Given the description of an element on the screen output the (x, y) to click on. 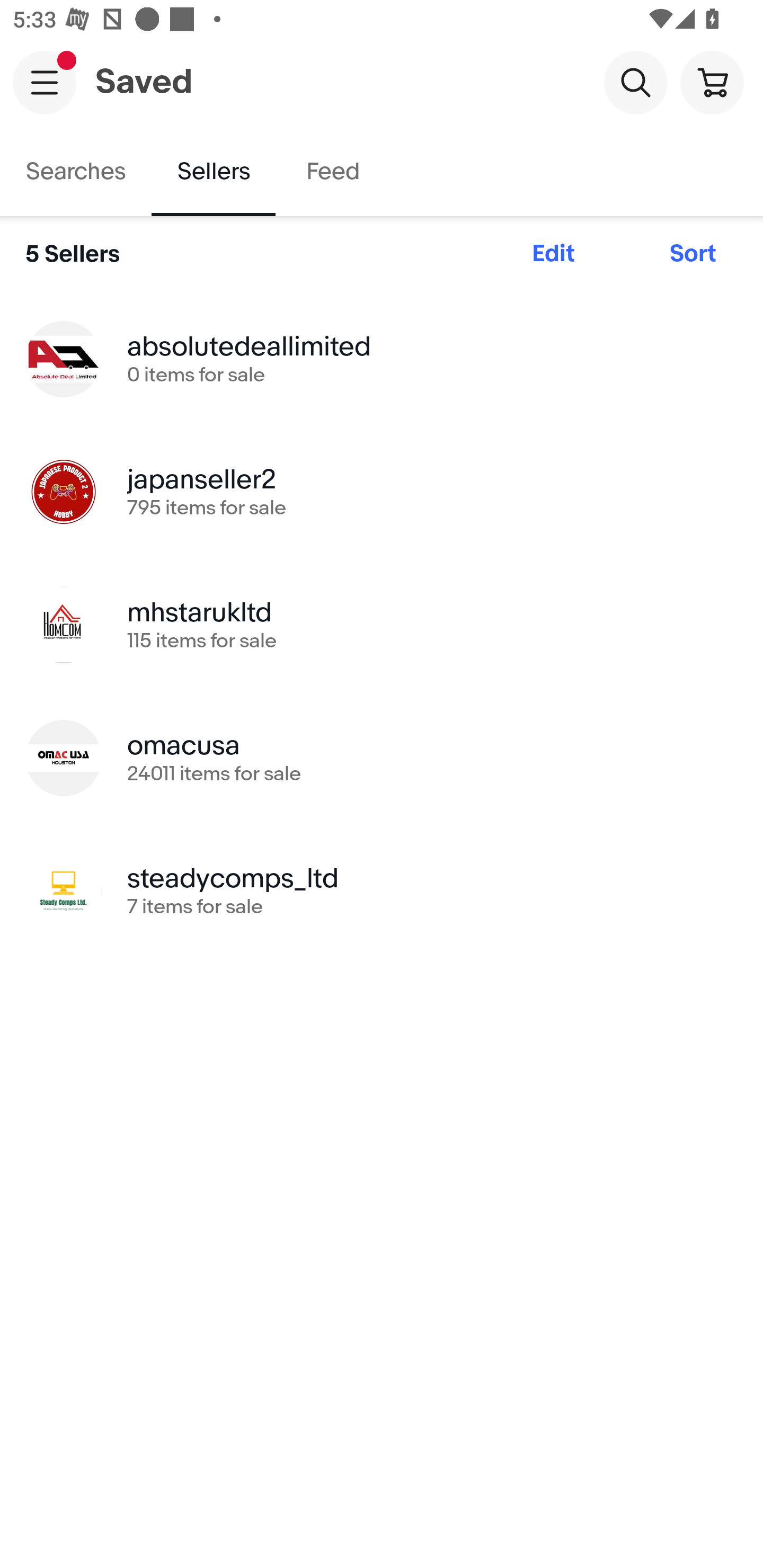
Main navigation, notification is pending, open (44, 82)
Search (635, 81)
Cart button shopping cart (711, 81)
Searches (75, 171)
Feed (332, 171)
Edit (552, 253)
Sort (693, 253)
absolutedeallimited 0 items for sale (381, 357)
japanseller2 795 items for sale (381, 491)
mhstarukltd 115 items for sale (381, 624)
omacusa 24011 items for sale (381, 757)
steadycomps_ltd 7 items for sale (381, 890)
